Given the description of an element on the screen output the (x, y) to click on. 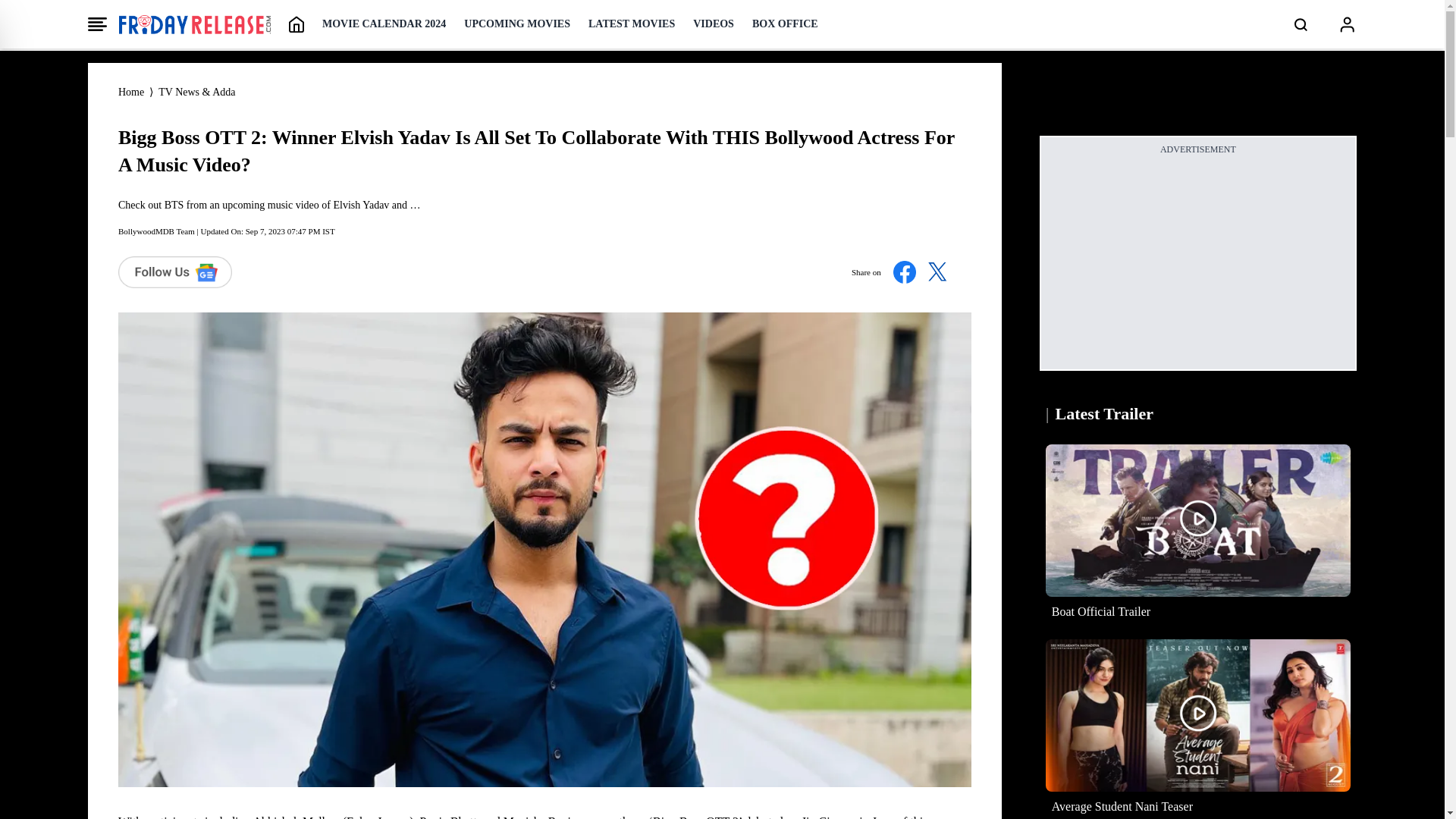
UPCOMING MOVIES (517, 23)
BOX OFFICE (785, 23)
Share on (905, 272)
VIDEOS (713, 23)
LATEST MOVIES (631, 23)
MOVIE CALENDAR 2024 (383, 23)
